Given the description of an element on the screen output the (x, y) to click on. 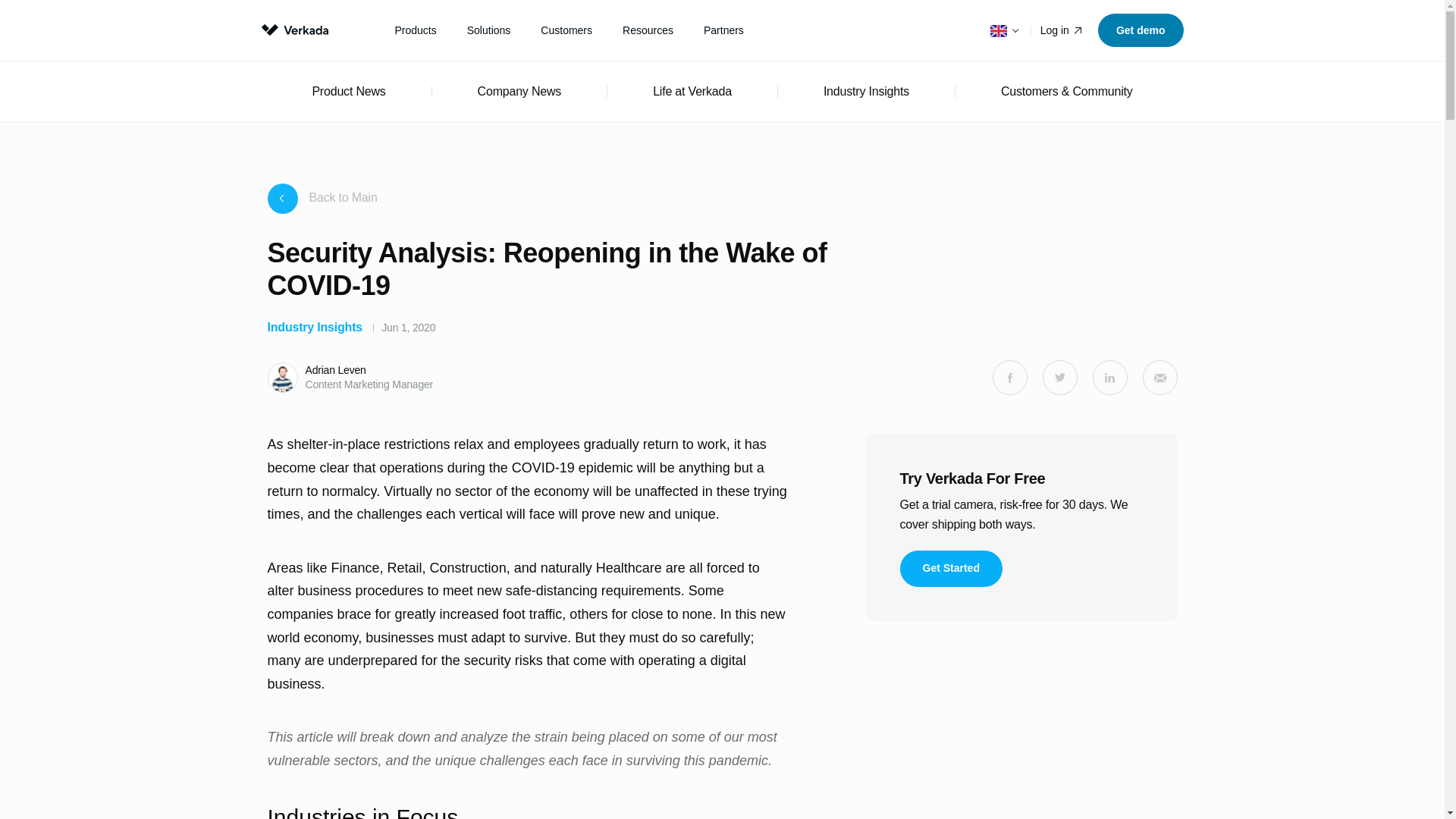
Get demo (1140, 29)
Back to Main (321, 198)
Solutions (488, 30)
Products (414, 30)
Partners (723, 30)
Life at Verkada (692, 90)
Industry Insights (314, 327)
Company News (519, 90)
Product News (348, 90)
Customers (566, 30)
Industry Insights (866, 90)
Resources (647, 30)
Log in (1062, 30)
